Given the description of an element on the screen output the (x, y) to click on. 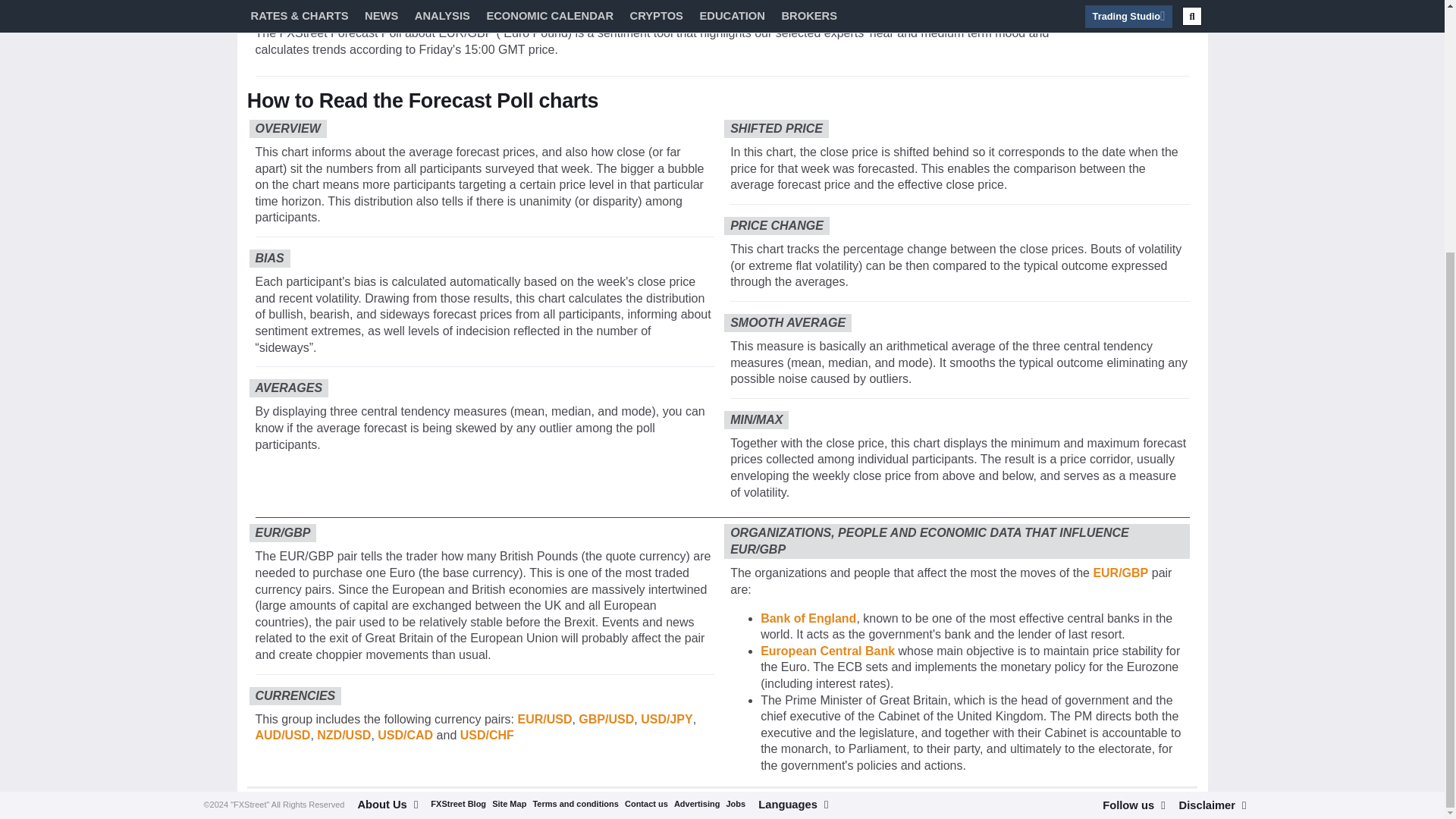
FXStreet Blog (458, 447)
Terms and conditions (574, 447)
Site Map (508, 447)
